Given the description of an element on the screen output the (x, y) to click on. 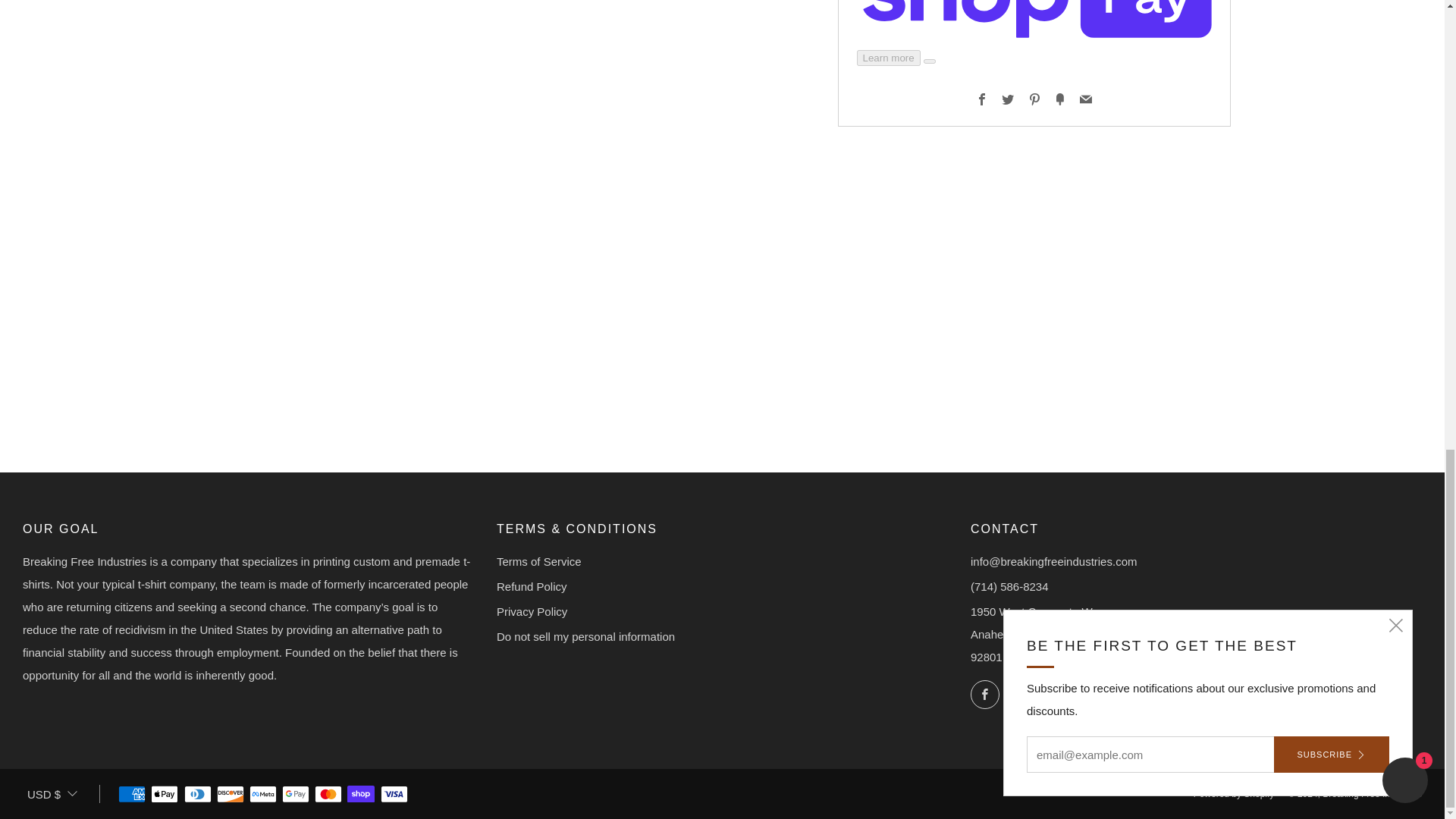
Apple Pay (164, 794)
American Express (131, 794)
Visa (393, 794)
Meta Pay (262, 794)
Diners Club (197, 794)
Shop Pay (360, 794)
Google Pay (295, 794)
Mastercard (328, 794)
Discover (230, 794)
